Given the description of an element on the screen output the (x, y) to click on. 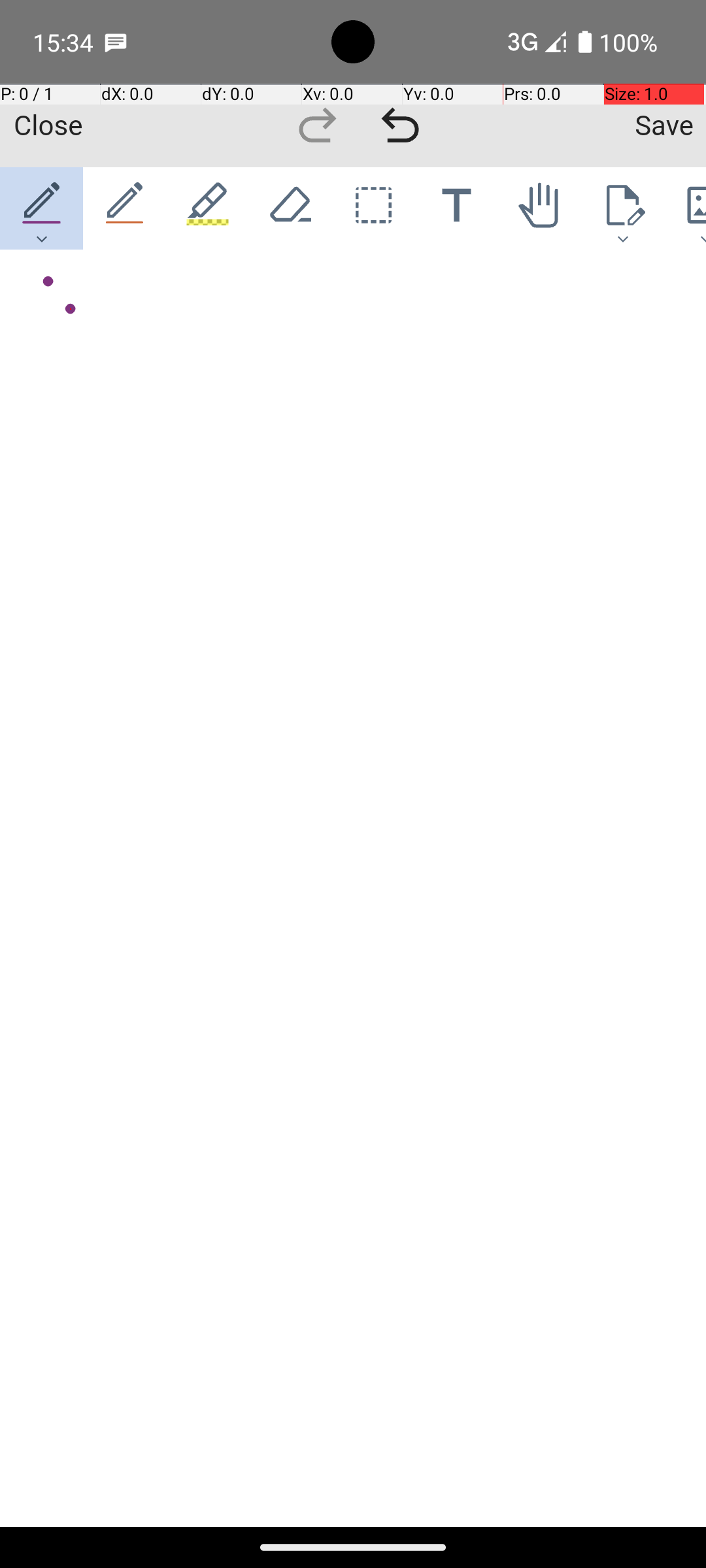
Added Stroke. Element type: android.widget.TextView (42, 281)
Re-render as text Element type: android.widget.Button (47, 308)
Enable sound-based exploration Element type: android.widget.Button (70, 309)
Pen 1 Element type: android.widget.ToggleButton (41, 208)
Pen 2 Element type: android.widget.Button (125, 208)
Pen 3 Element type: android.widget.Button (207, 208)
Eraser Element type: android.widget.Button (290, 208)
Select Element type: android.widget.Button (373, 208)
Text Element type: android.widget.Button (455, 208)
Pan Element type: android.widget.Button (540, 208)
Page Element type: android.widget.Button (622, 208)
